Given the description of an element on the screen output the (x, y) to click on. 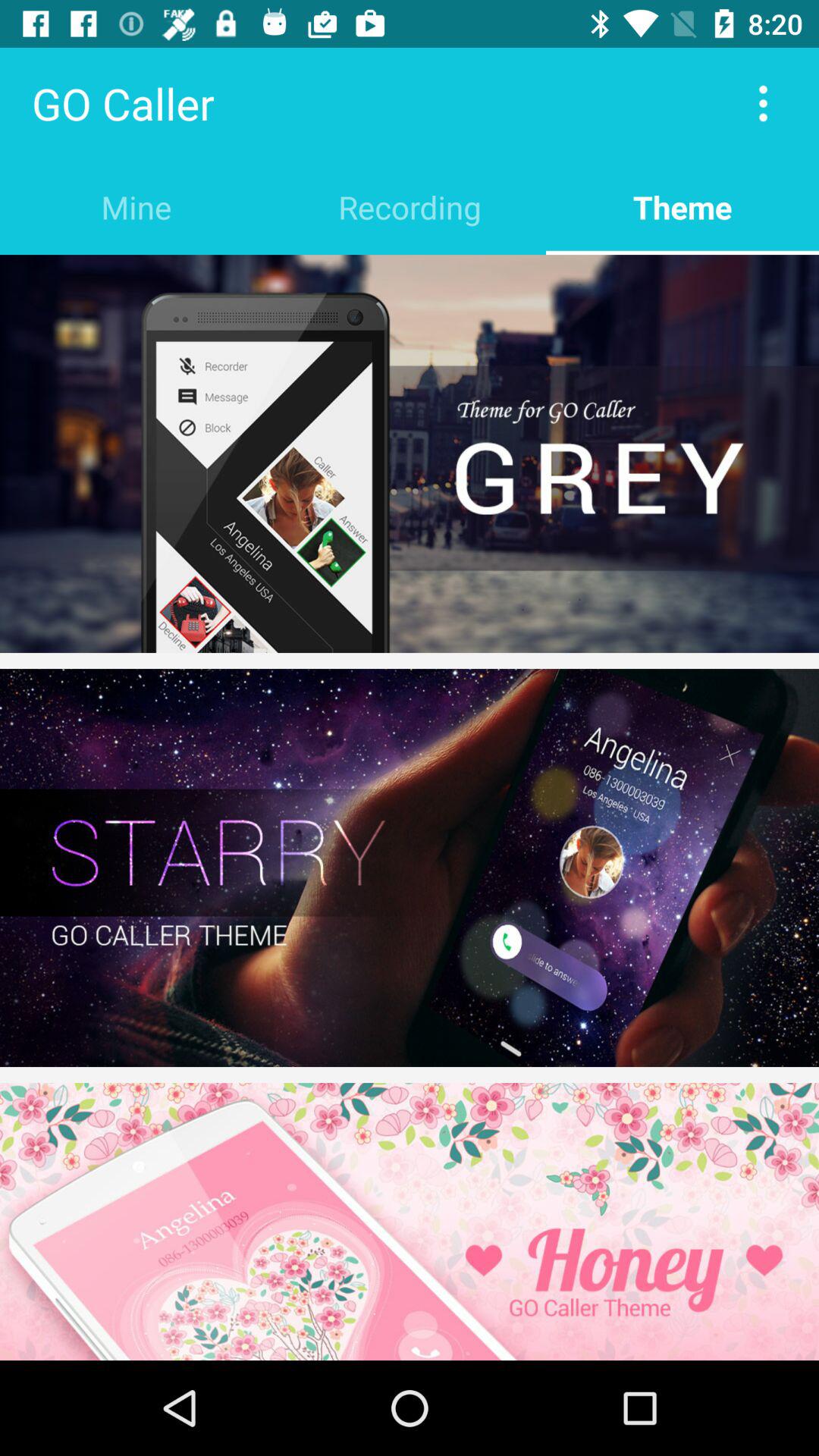
turn on the icon to the right of go caller (763, 103)
